Given the description of an element on the screen output the (x, y) to click on. 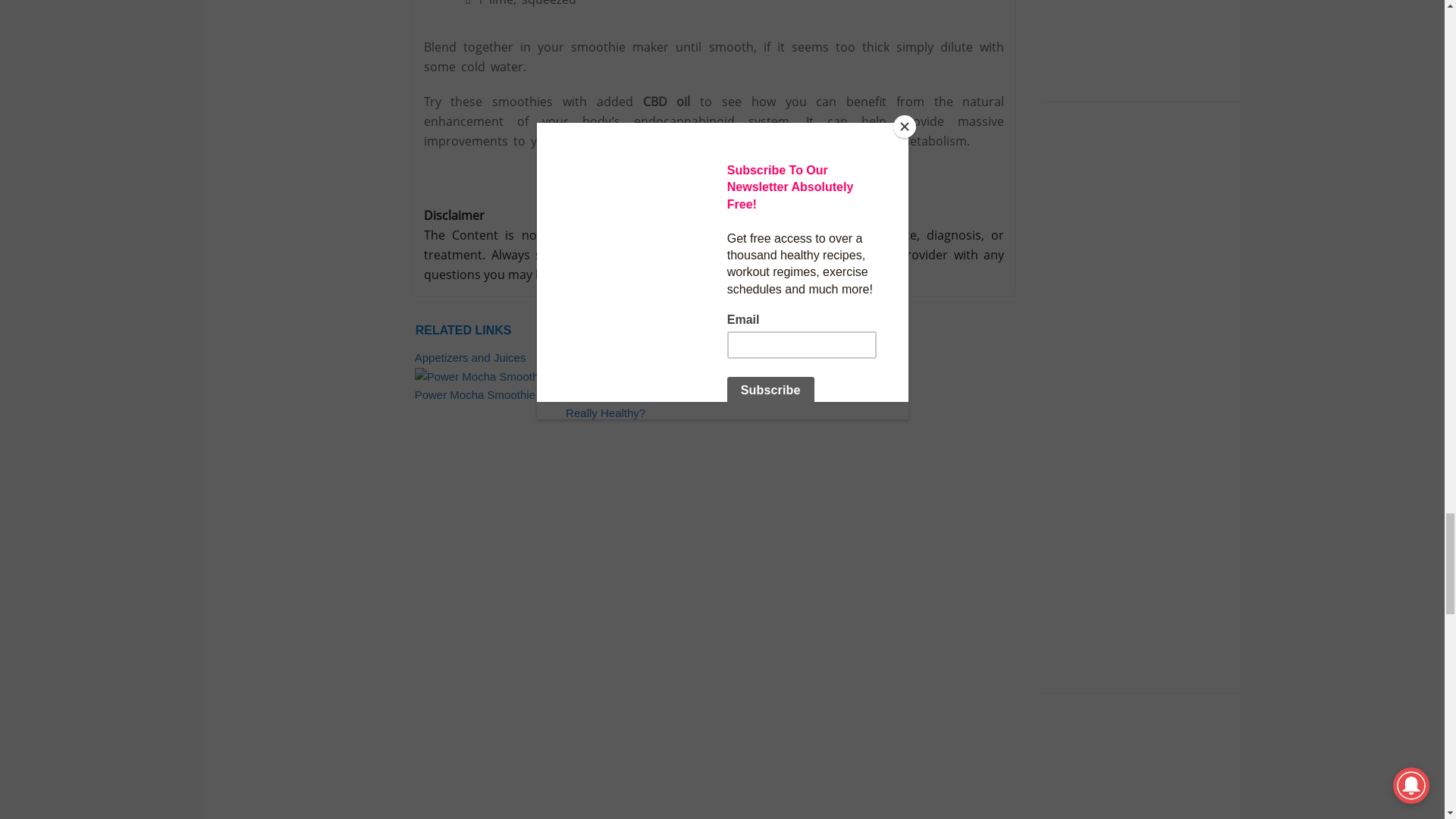
Calorie Catch (638, 366)
Power Mocha Smoothie (486, 394)
Appetizers and Juices (486, 366)
Is Your Smoothie Bowl Really Healthy? (638, 404)
